Given the description of an element on the screen output the (x, y) to click on. 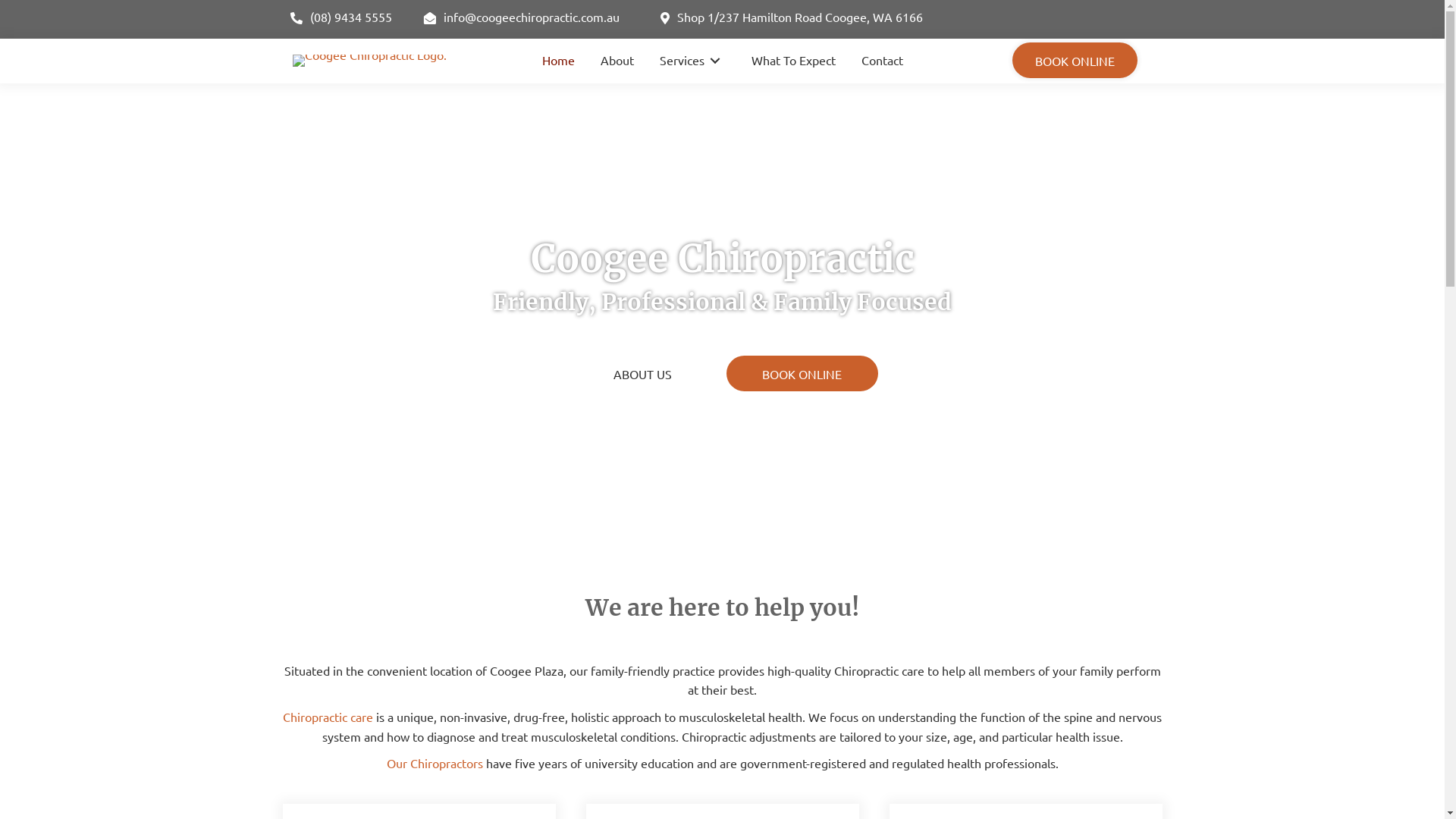
Contact Element type: text (881, 60)
(08) 9434 5555 Element type: text (340, 19)
ABOUT US Element type: text (642, 373)
Home Element type: text (557, 60)
What To Expect Element type: text (792, 60)
Our Chiropractors Element type: text (434, 762)
BOOK ONLINE Element type: text (802, 373)
Chiropractic care Element type: text (327, 716)
BOOK ONLINE Element type: text (1074, 60)
info@coogeechiropractic.com.au Element type: text (525, 19)
About Element type: text (617, 60)
Shop 1/237 Hamilton Road Coogee, WA 6166 Element type: text (911, 19)
Services Element type: text (692, 60)
